Given the description of an element on the screen output the (x, y) to click on. 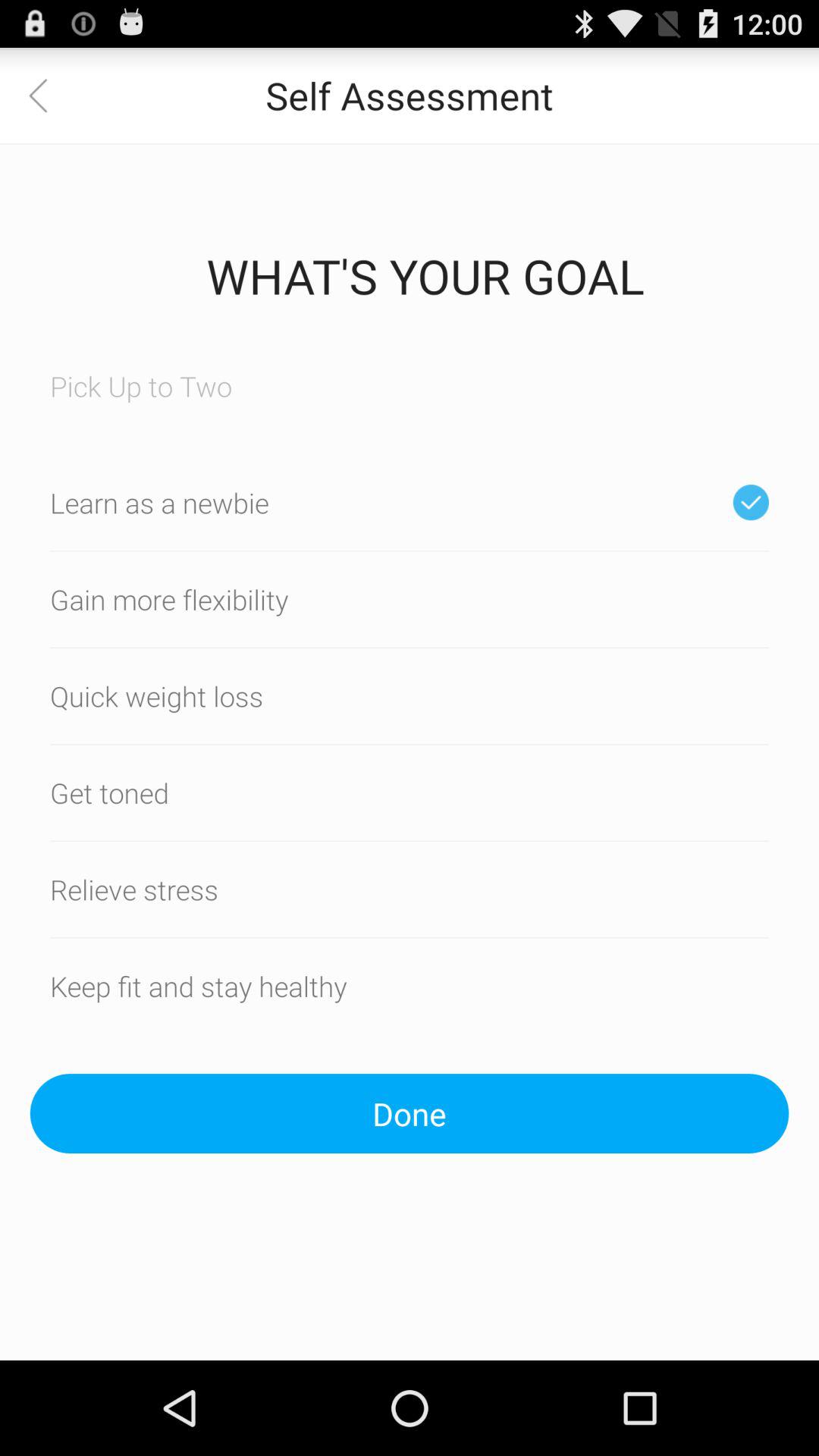
go back (47, 95)
